Given the description of an element on the screen output the (x, y) to click on. 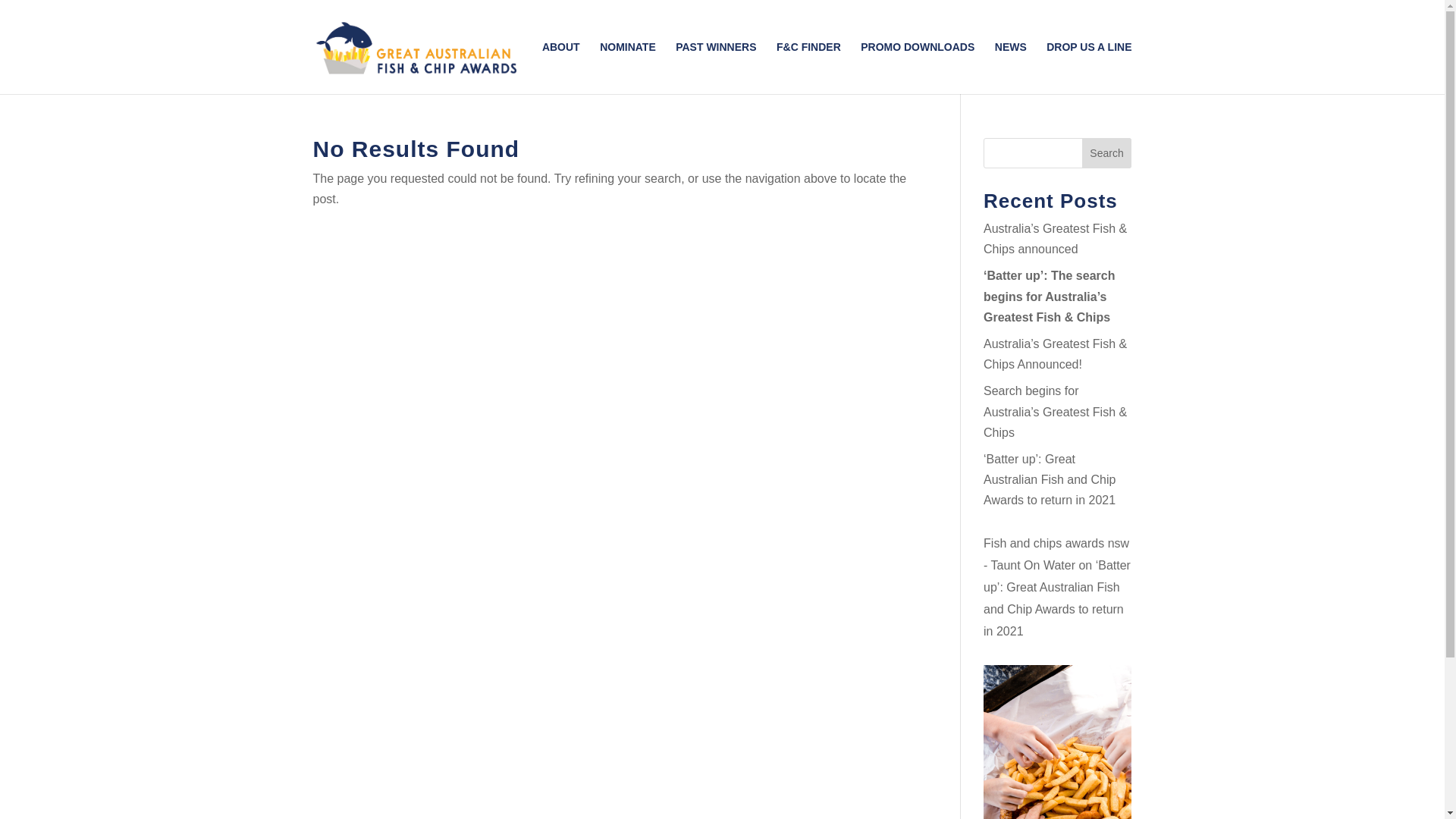
Fish and chips awards nsw - Taunt On Water Element type: text (1056, 553)
PAST WINNERS Element type: text (715, 67)
DROP US A LINE Element type: text (1088, 67)
NOMINATE Element type: text (627, 67)
ABOUT Element type: text (561, 67)
Search Element type: text (1107, 153)
PROMO DOWNLOADS Element type: text (917, 67)
F&C FINDER Element type: text (808, 67)
NEWS Element type: text (1010, 67)
